Given the description of an element on the screen output the (x, y) to click on. 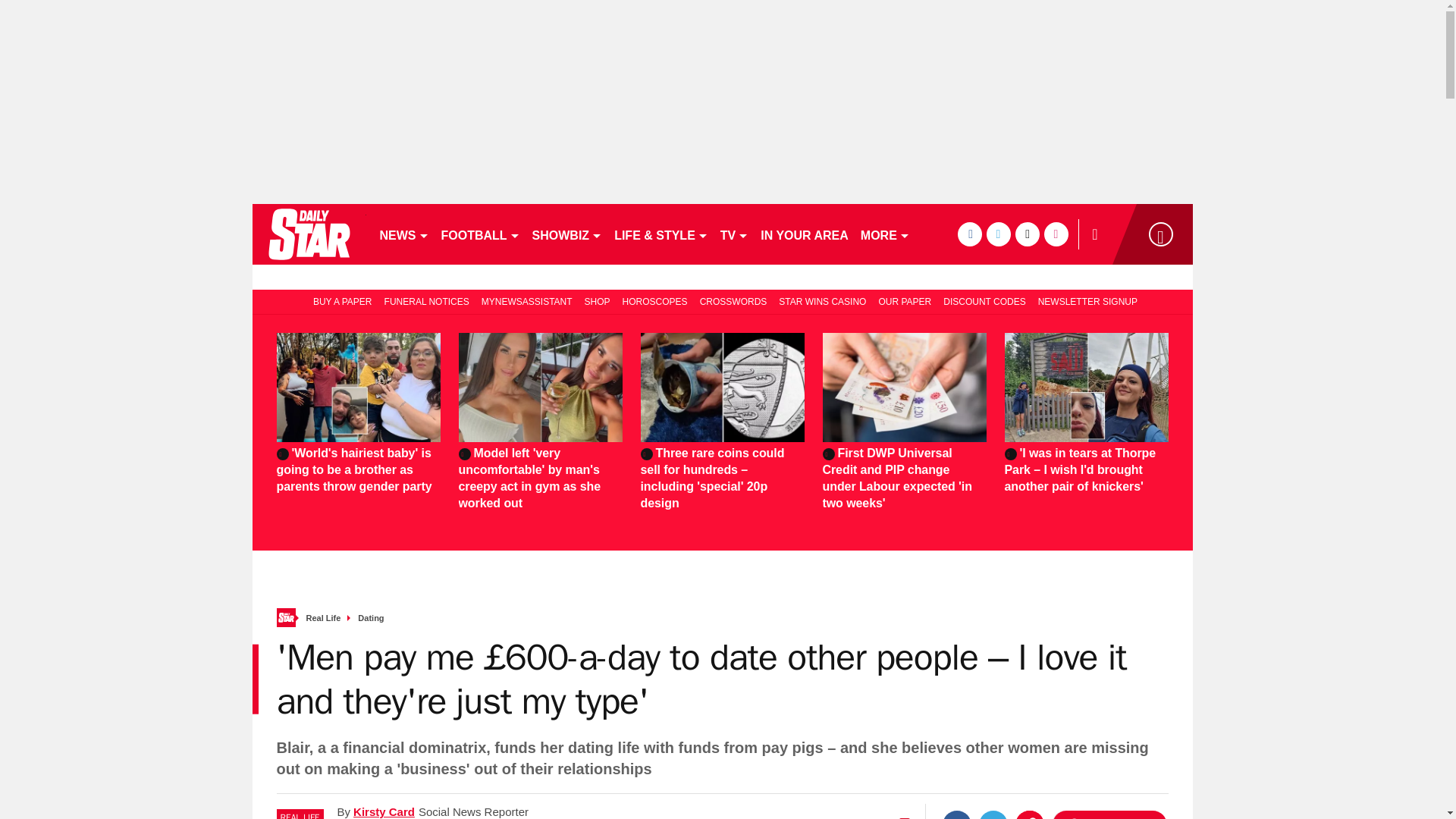
Twitter (992, 814)
facebook (968, 233)
instagram (1055, 233)
Comments (1108, 814)
SHOWBIZ (566, 233)
dailystar (308, 233)
NEWS (402, 233)
twitter (997, 233)
tiktok (1026, 233)
FOOTBALL (480, 233)
